Given the description of an element on the screen output the (x, y) to click on. 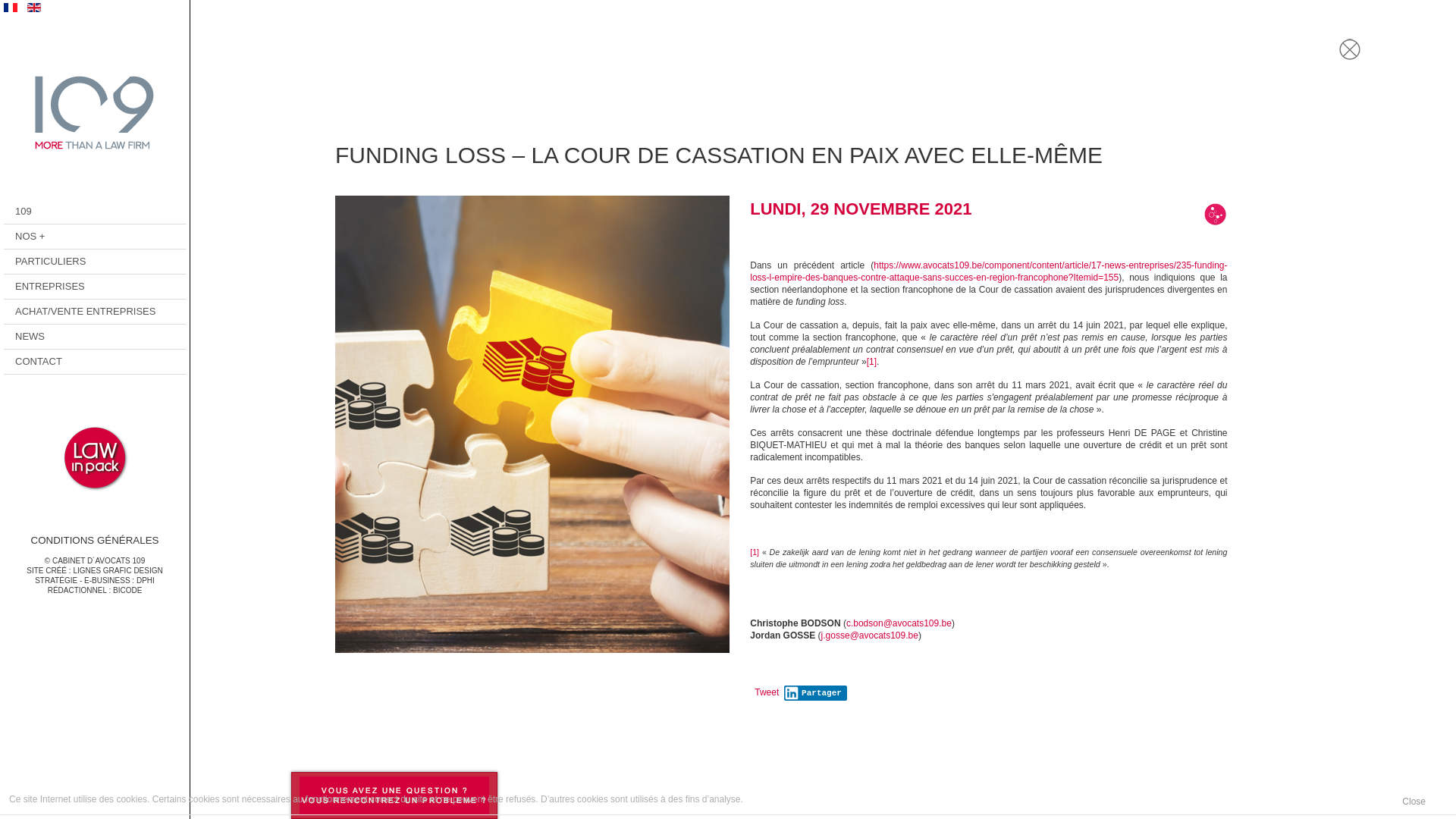
109 Element type: text (94, 211)
[1] Element type: text (754, 551)
English (UK) Element type: hover (33, 7)
c.bodson@avocats109.be Element type: text (898, 623)
NEWS Element type: text (94, 336)
ENTREPRISES Element type: text (94, 286)
j.gosse@avocats109.be Element type: text (869, 635)
LIGNES GRAFIC DESIGN Element type: text (117, 570)
PARTICULIERS Element type: text (94, 261)
Close Element type: text (1425, 801)
BICODE Element type: text (126, 590)
CONTACT Element type: text (94, 361)
NOS + Element type: text (94, 236)
DPHI Element type: text (145, 580)
Tweet Element type: text (766, 692)
Partager Element type: text (815, 692)
ACHAT/VENTE ENTREPRISES Element type: text (94, 311)
[1] Element type: text (871, 361)
